Given the description of an element on the screen output the (x, y) to click on. 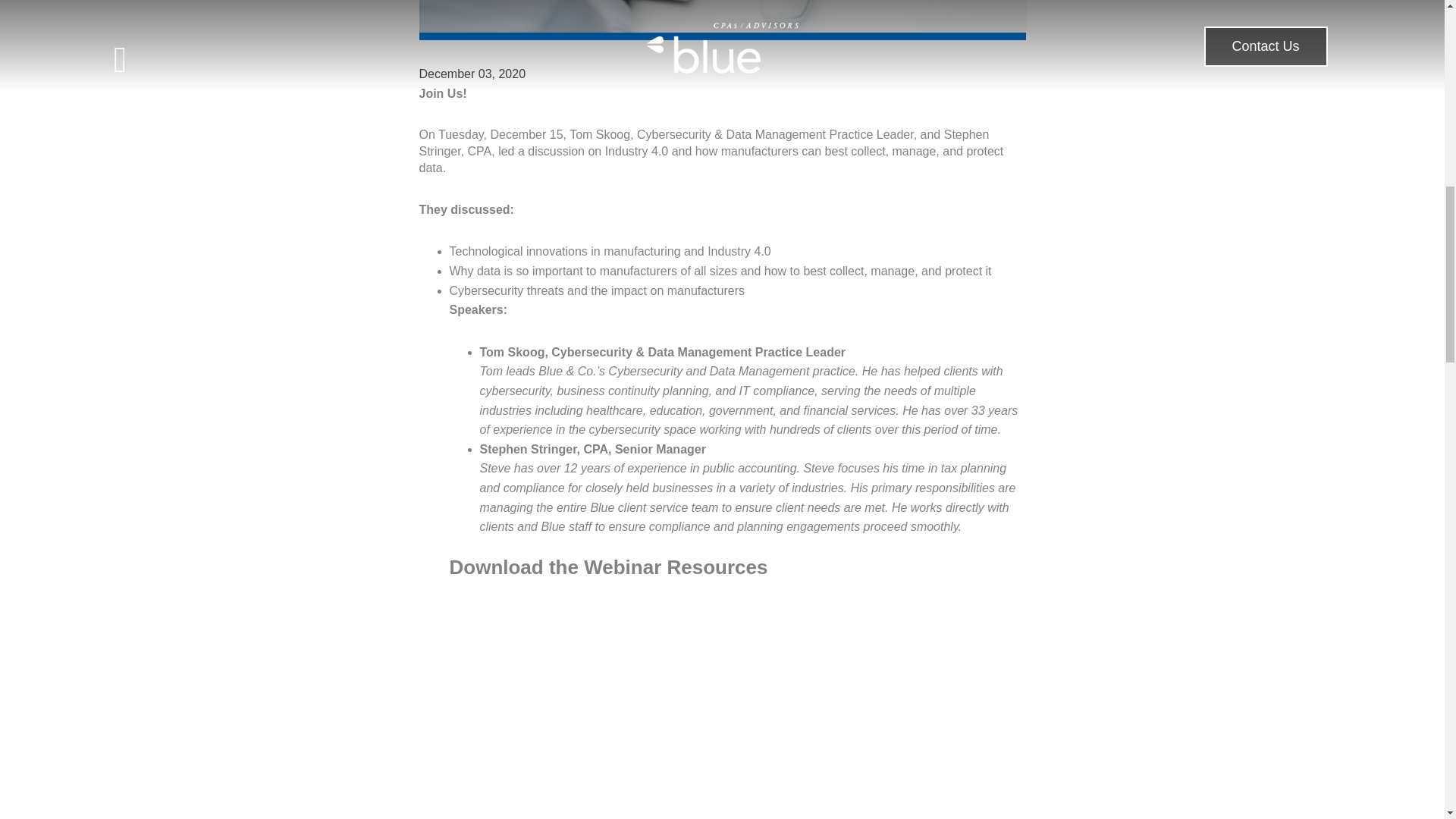
Form 0 (736, 732)
